Given the description of an element on the screen output the (x, y) to click on. 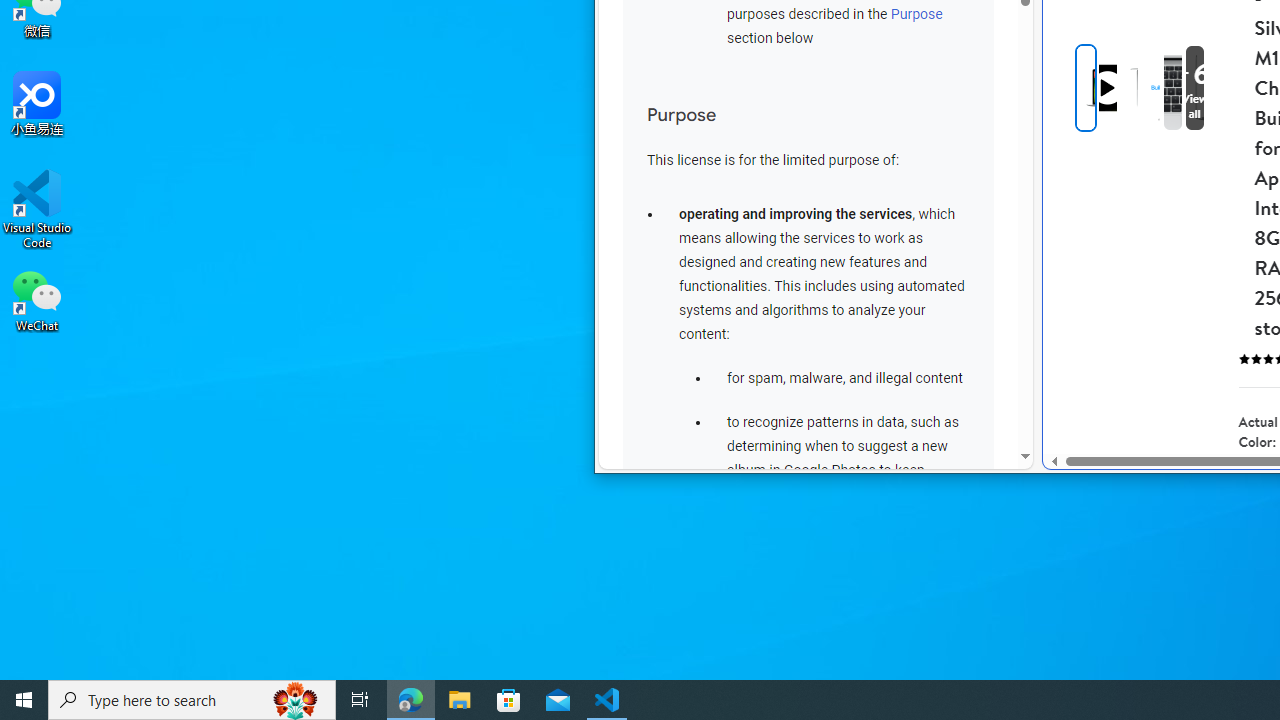
Gold (1259, 483)
View all media (1194, 88)
View all media (1227, 88)
Microsoft Store (509, 699)
Visual Studio Code (37, 209)
